Given the description of an element on the screen output the (x, y) to click on. 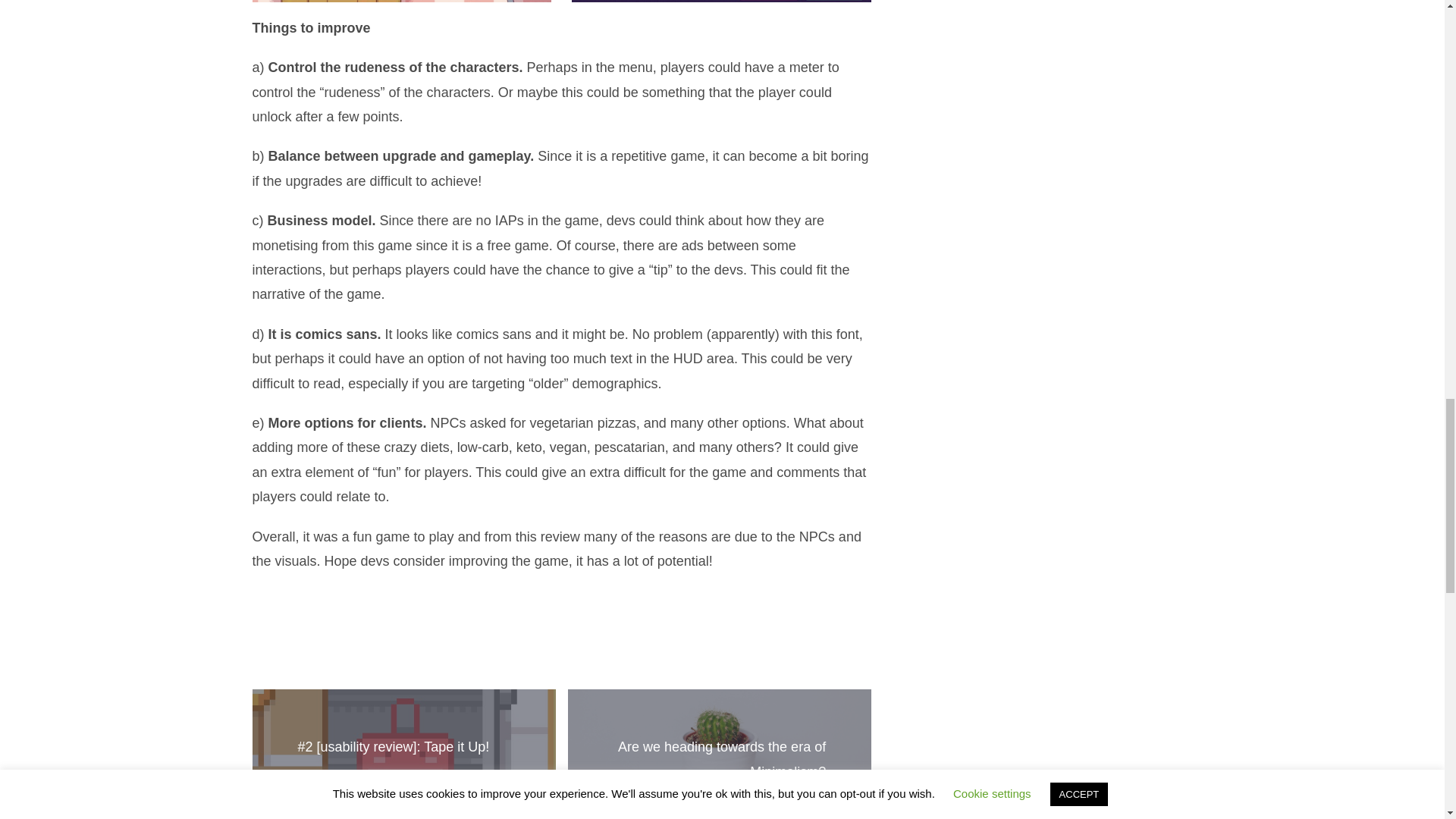
Are we heading towards the era of Minimalism? (721, 758)
